Given the description of an element on the screen output the (x, y) to click on. 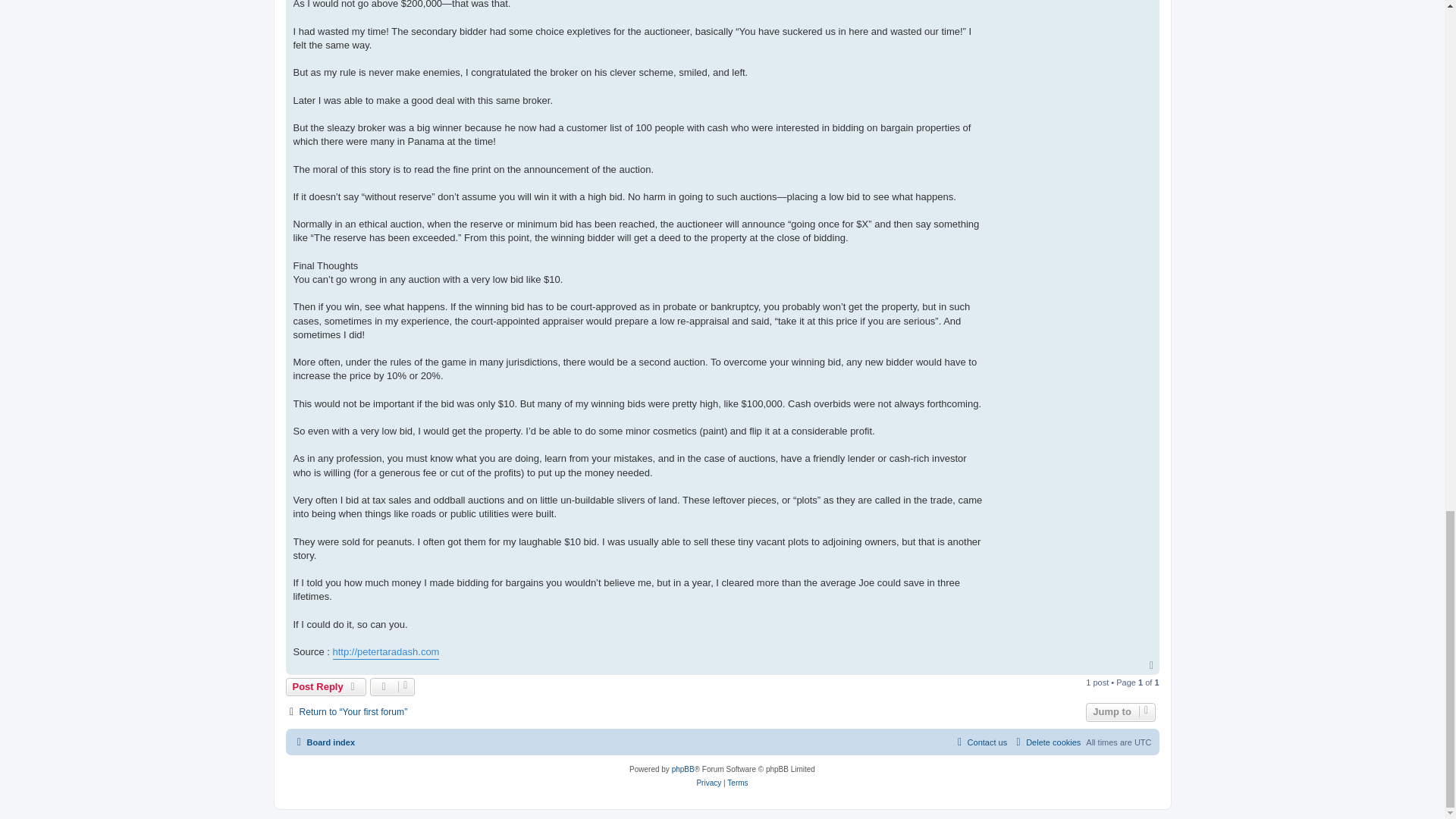
Post Reply (325, 687)
Top (1151, 665)
Delete cookies (1045, 742)
Board index (323, 742)
Contact us (980, 742)
